Given the description of an element on the screen output the (x, y) to click on. 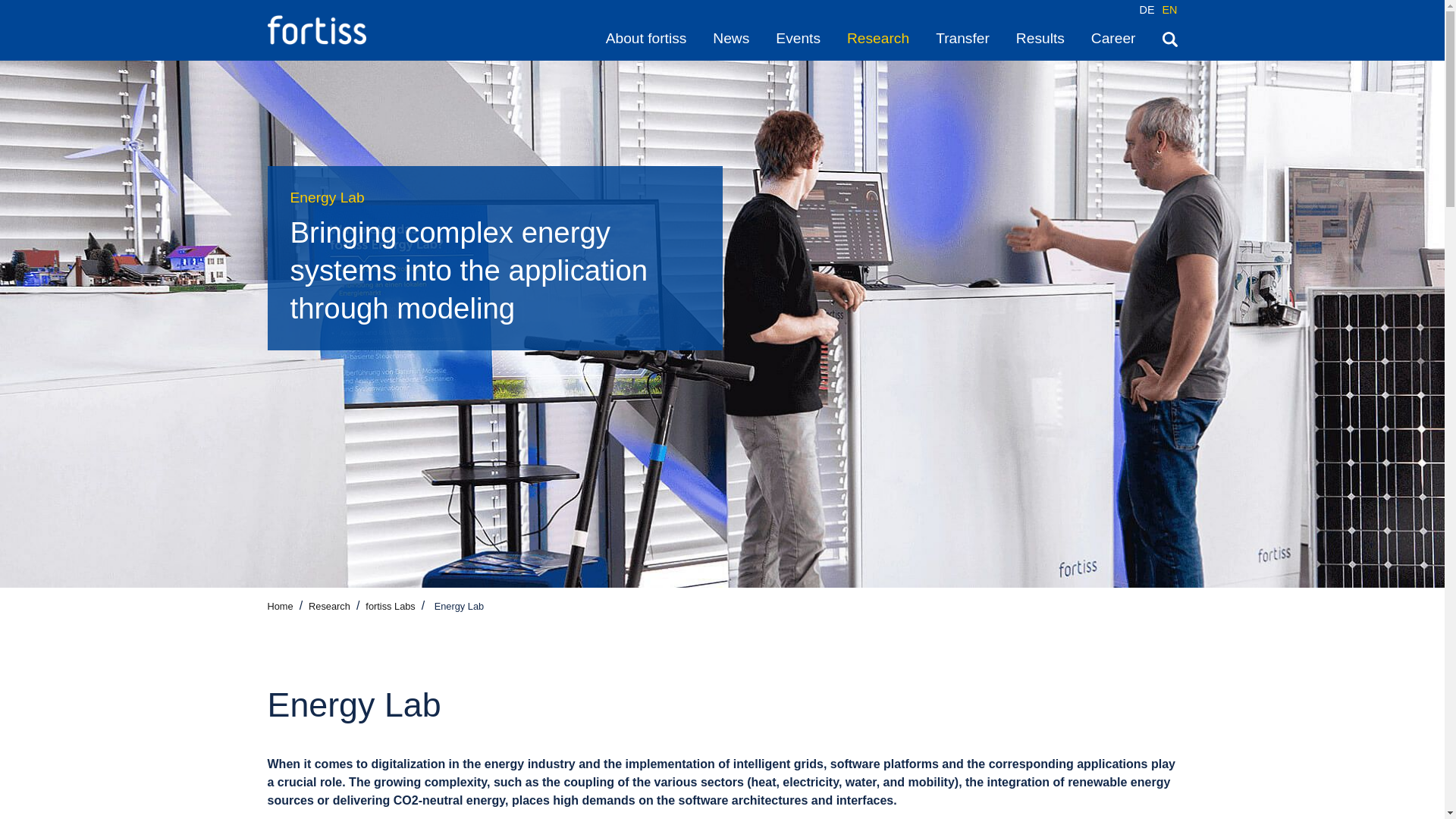
Research (877, 38)
Results (1040, 38)
fortiss (315, 30)
Career (1112, 38)
DE (1146, 9)
Transfer (963, 38)
Home (279, 605)
News (731, 38)
Search (1168, 38)
About fortiss (646, 38)
